Given the description of an element on the screen output the (x, y) to click on. 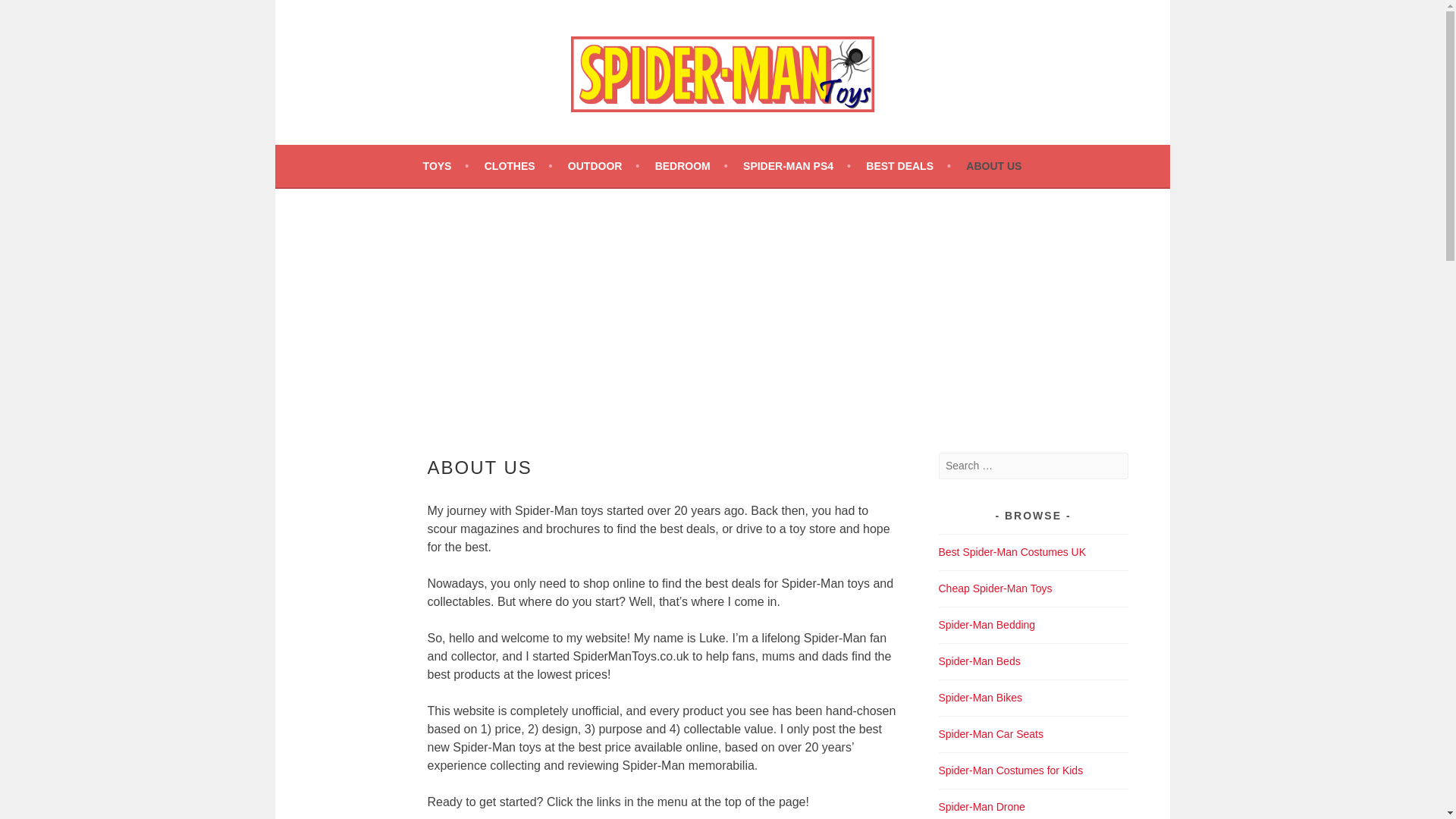
Best Spider-Man Costumes UK (1012, 551)
Spider-Man Toys (417, 153)
TOYS (445, 166)
Spider-Man Toys (417, 153)
Spider-Man Car Seats (991, 734)
BEST DEALS (908, 166)
BEDROOM (691, 166)
Spider-Man Costumes for Kids (1011, 770)
Spider-Man Bikes (981, 697)
